Given the description of an element on the screen output the (x, y) to click on. 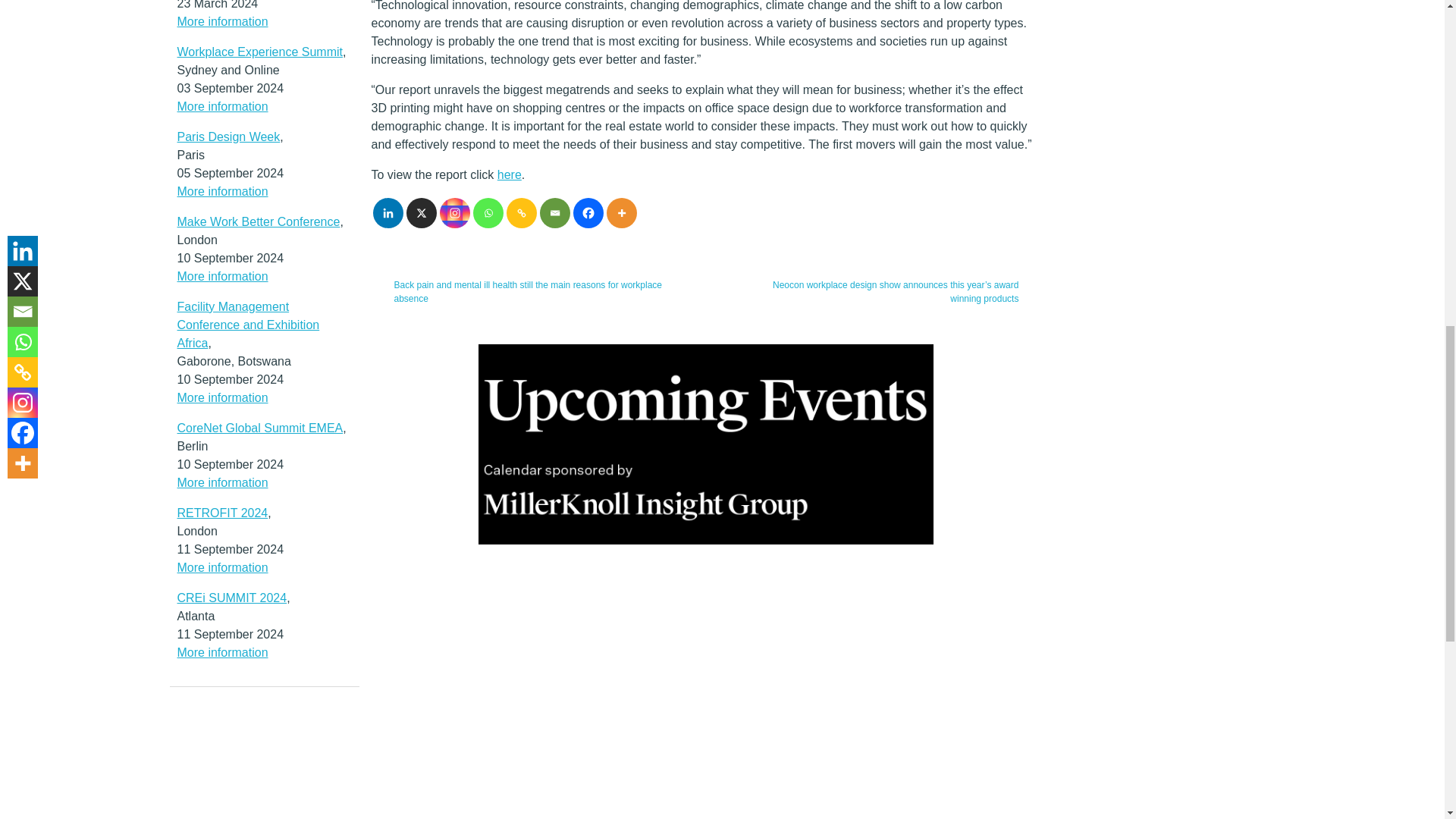
Facebook (588, 213)
More information (222, 21)
Copy Link (521, 213)
More (622, 213)
Linkedin (387, 213)
Email (555, 213)
X (421, 213)
Instagram (454, 213)
Whatsapp (488, 213)
